Given the description of an element on the screen output the (x, y) to click on. 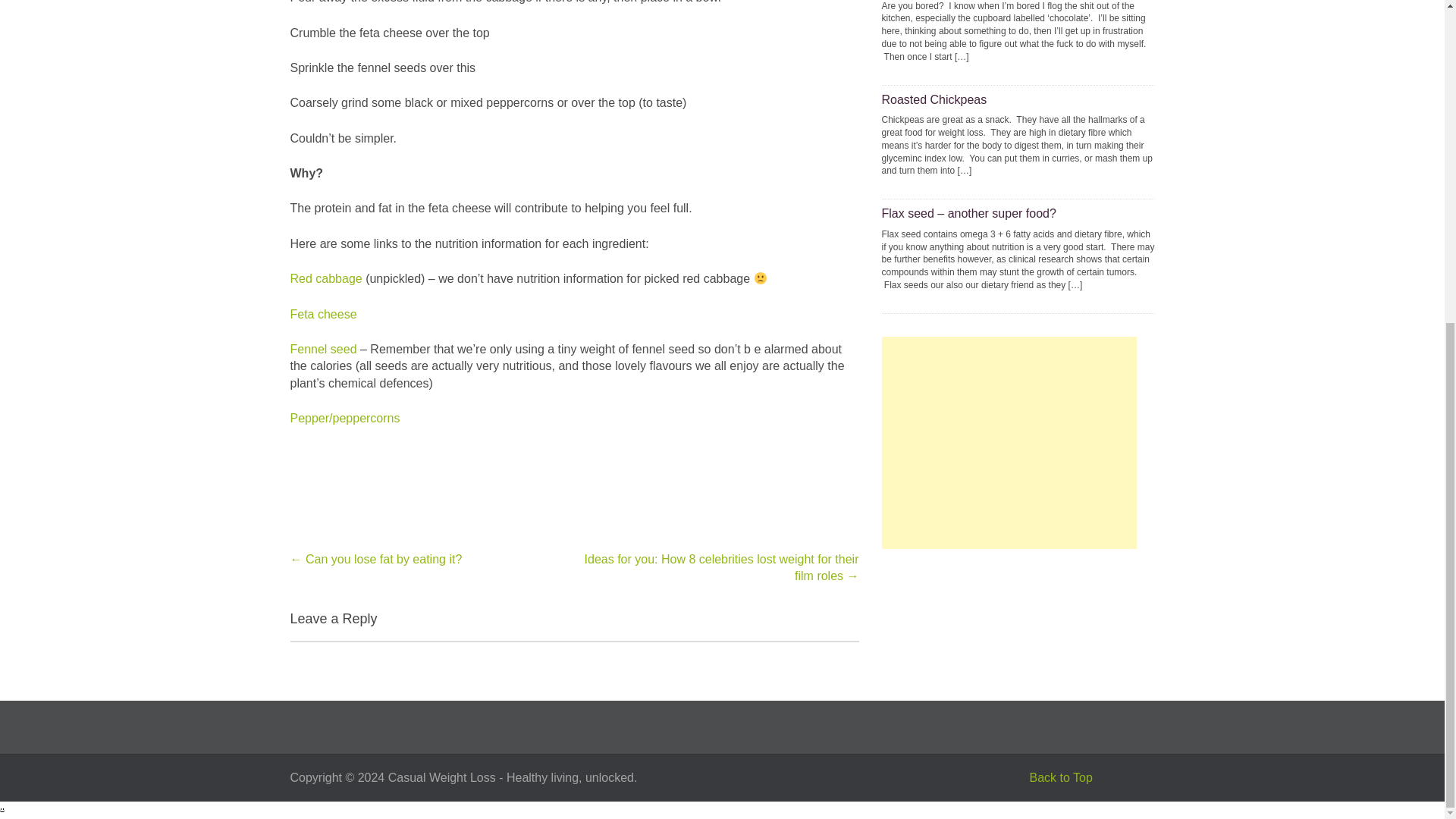
Red cabbage (325, 278)
Fennel seed (322, 349)
Roasted Chickpeas (933, 99)
Advertisement (1007, 442)
Casual Weight Loss (442, 777)
Back to Top (1060, 777)
Casual Weight Loss (442, 777)
Feta cheese (322, 314)
